Given the description of an element on the screen output the (x, y) to click on. 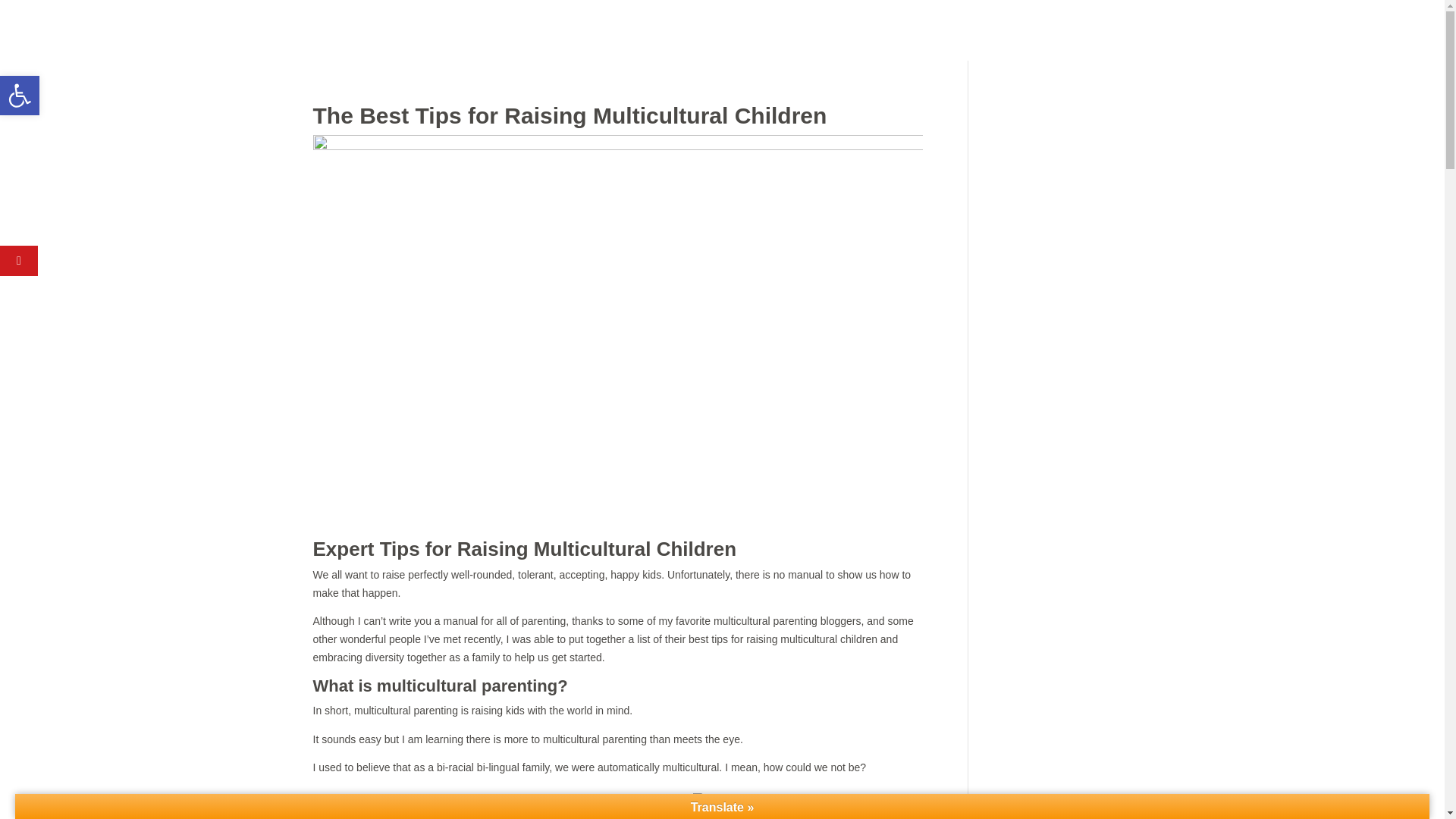
Accessibility Tools (19, 95)
Accessibility Tools (19, 95)
